Given the description of an element on the screen output the (x, y) to click on. 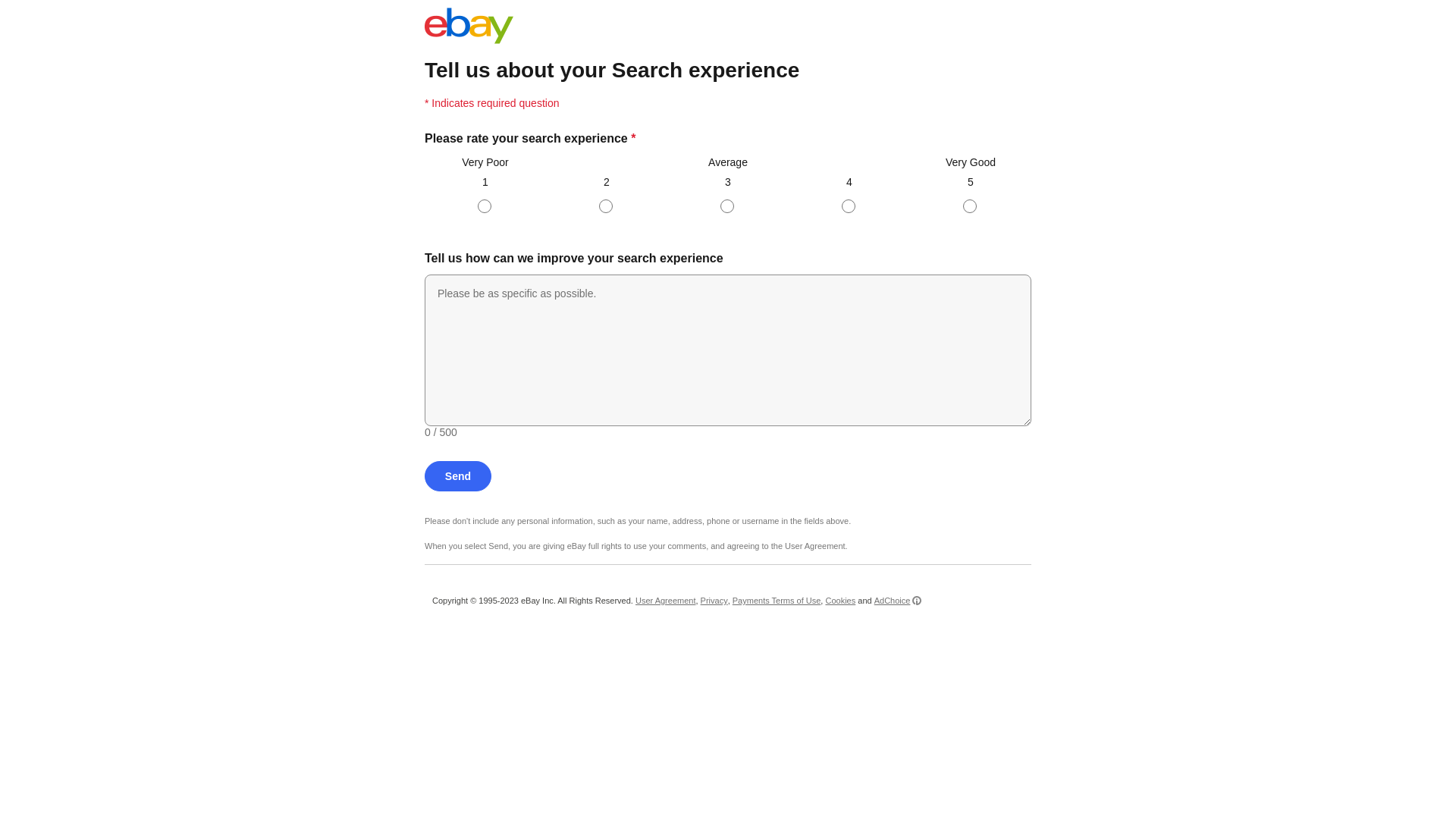
load bk Element type: hover (424, 53)
Payments Terms of Use Element type: text (776, 600)
User Agreement Element type: text (665, 600)
Cookies Element type: text (840, 600)
Privacy Element type: text (714, 600)
AdChoice Element type: text (898, 600)
 Send Element type: text (457, 476)
